Given the description of an element on the screen output the (x, y) to click on. 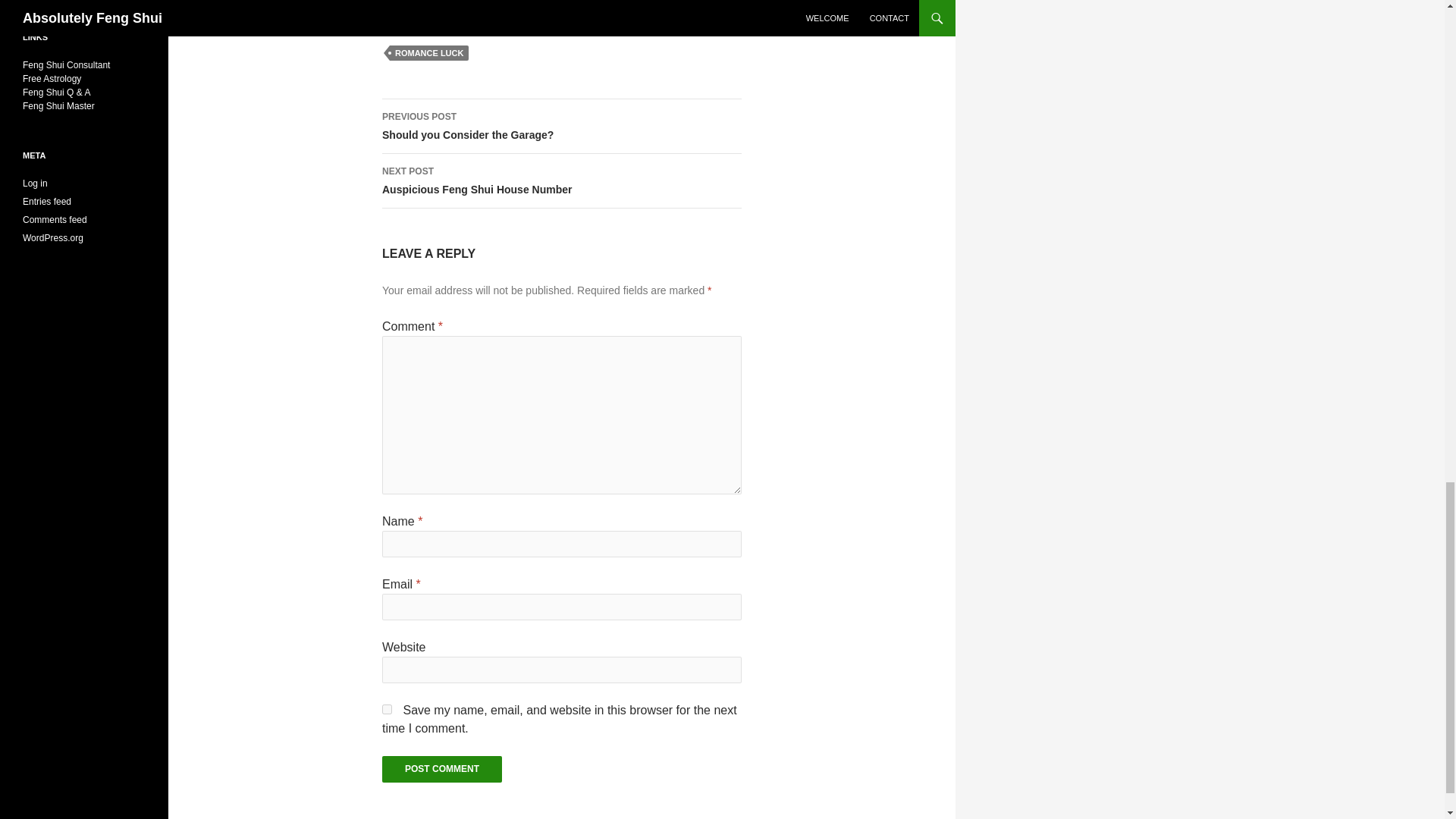
ROMANCE LUCK (561, 126)
Post Comment (561, 180)
Post Comment (429, 52)
yes (441, 768)
